Given the description of an element on the screen output the (x, y) to click on. 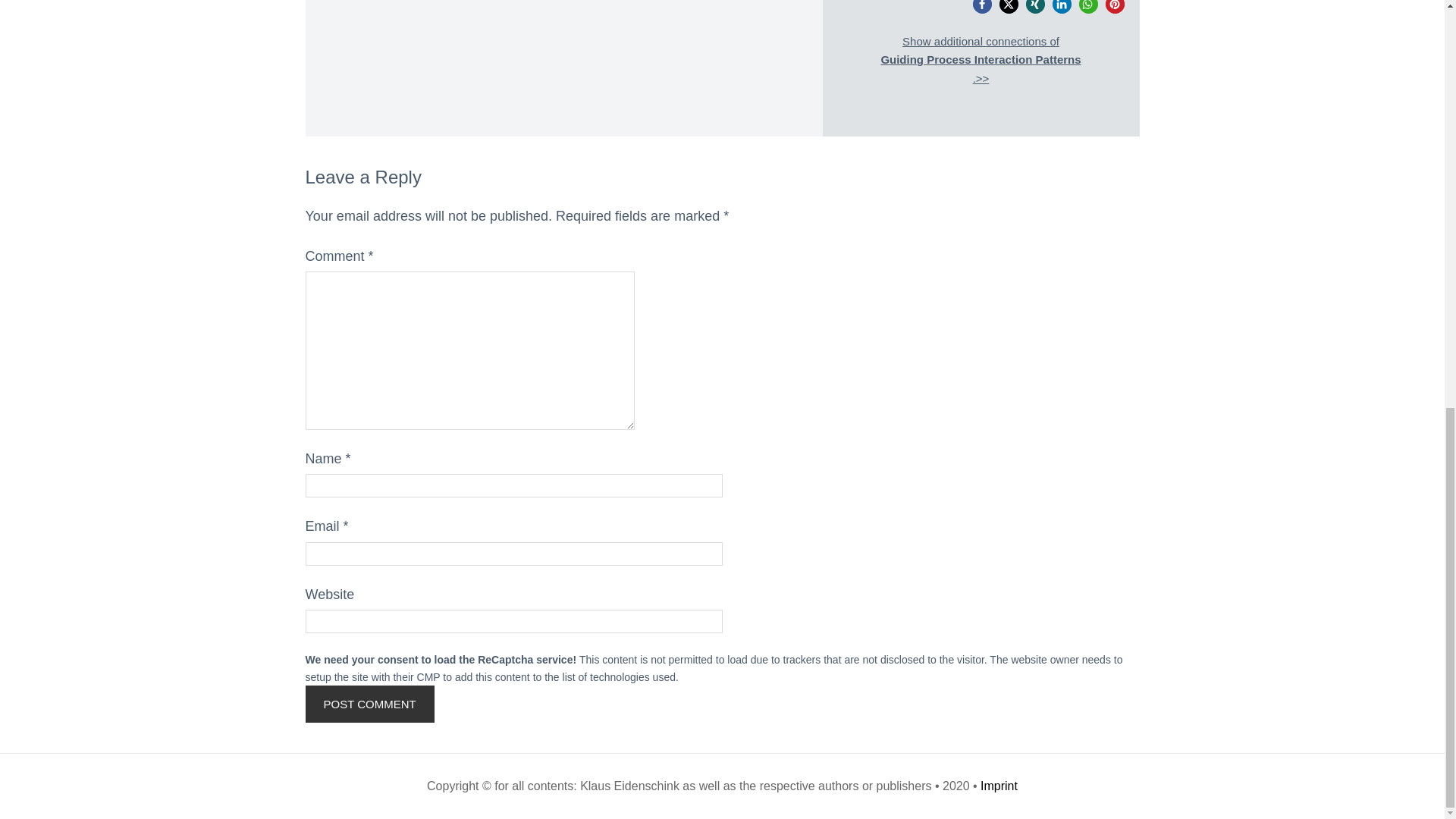
Imprint (998, 786)
Post Comment (368, 703)
Share on Facebook (981, 6)
Post Comment (368, 703)
